Given the description of an element on the screen output the (x, y) to click on. 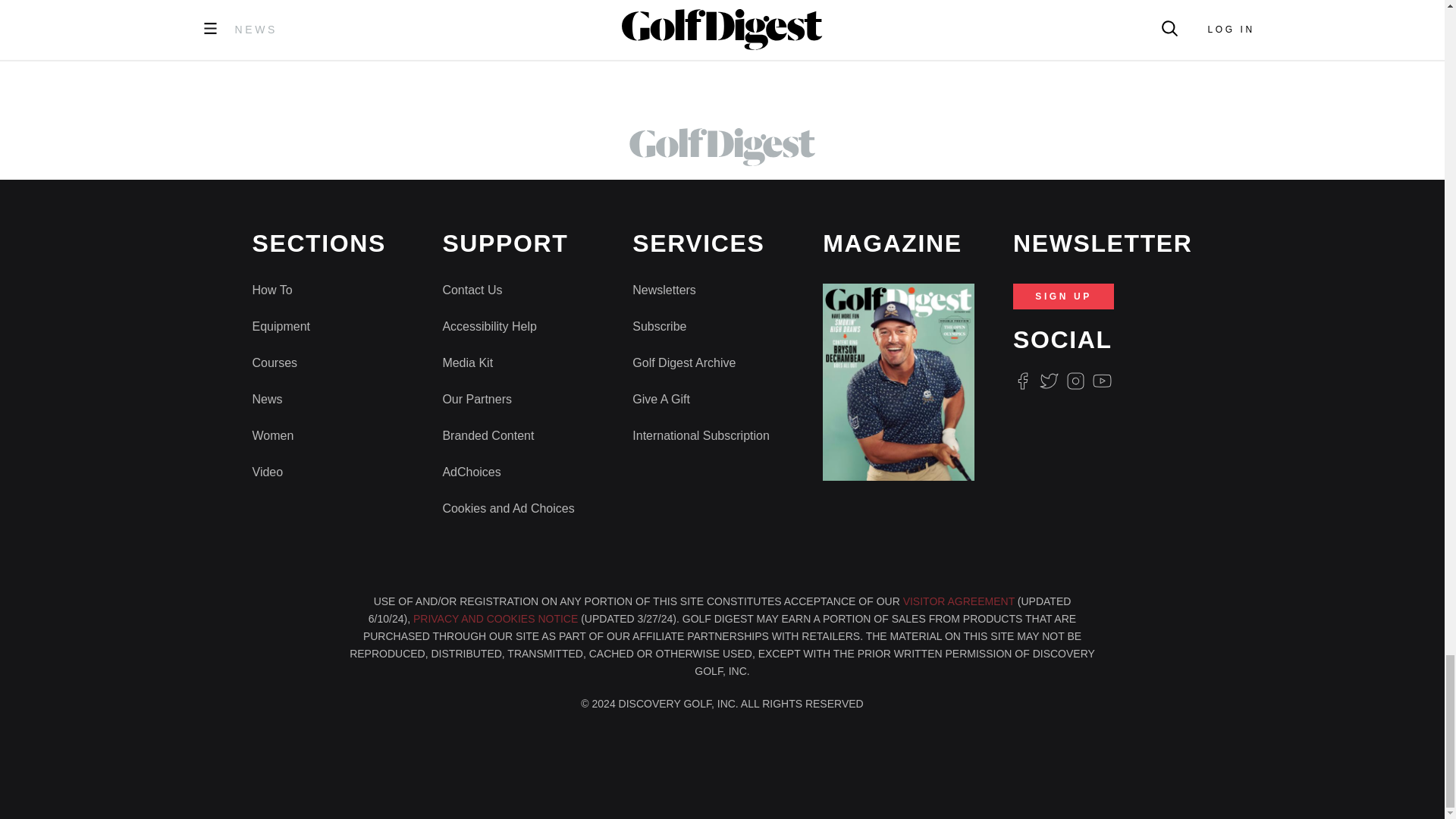
Facebook Logo (1022, 380)
Youtube Icon (1102, 380)
Instagram Logo (1074, 380)
Twitter Logo (1048, 380)
